Given the description of an element on the screen output the (x, y) to click on. 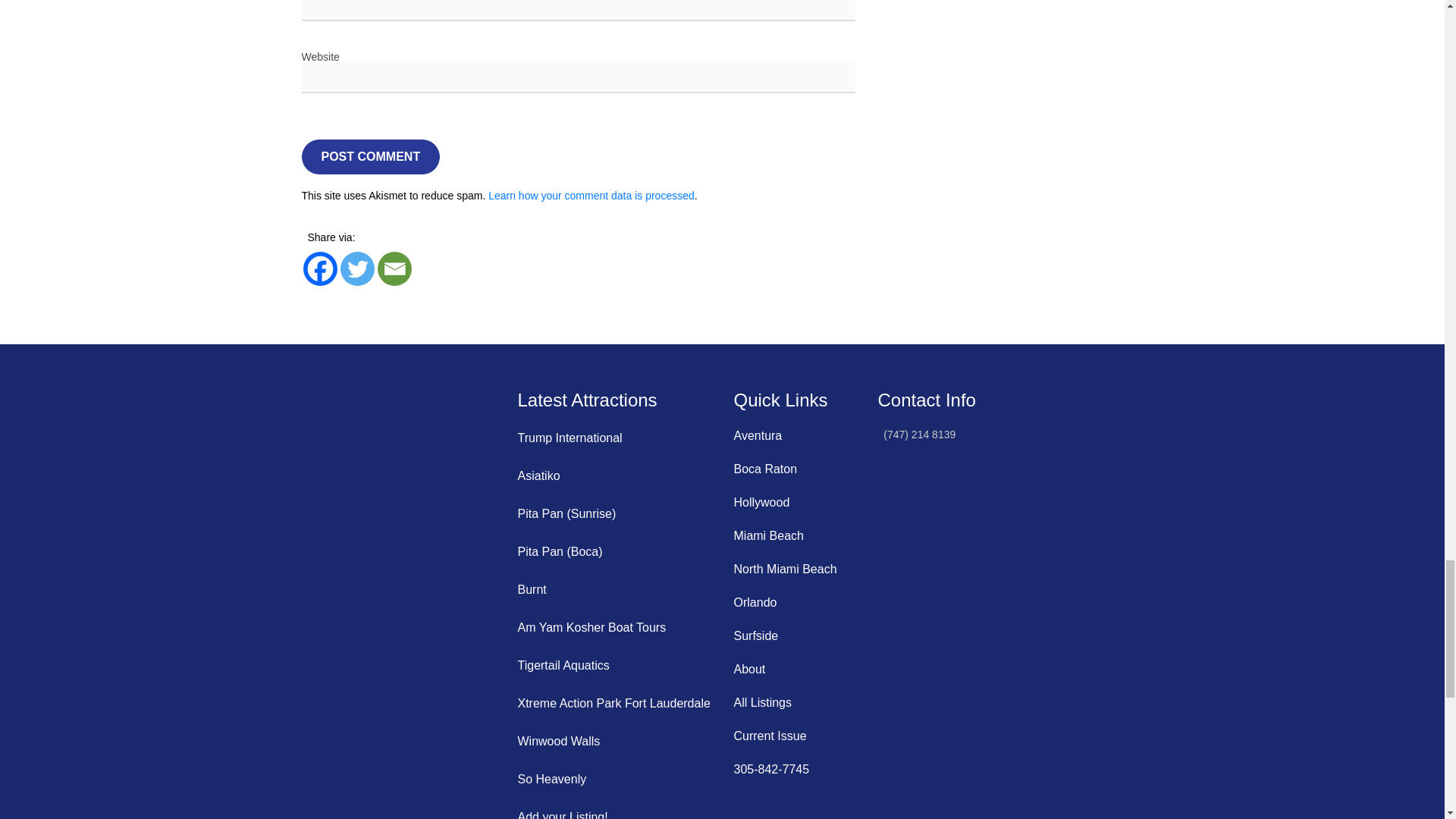
Post Comment (371, 156)
Email (394, 268)
Facebook (319, 268)
Twitter (356, 268)
